Given the description of an element on the screen output the (x, y) to click on. 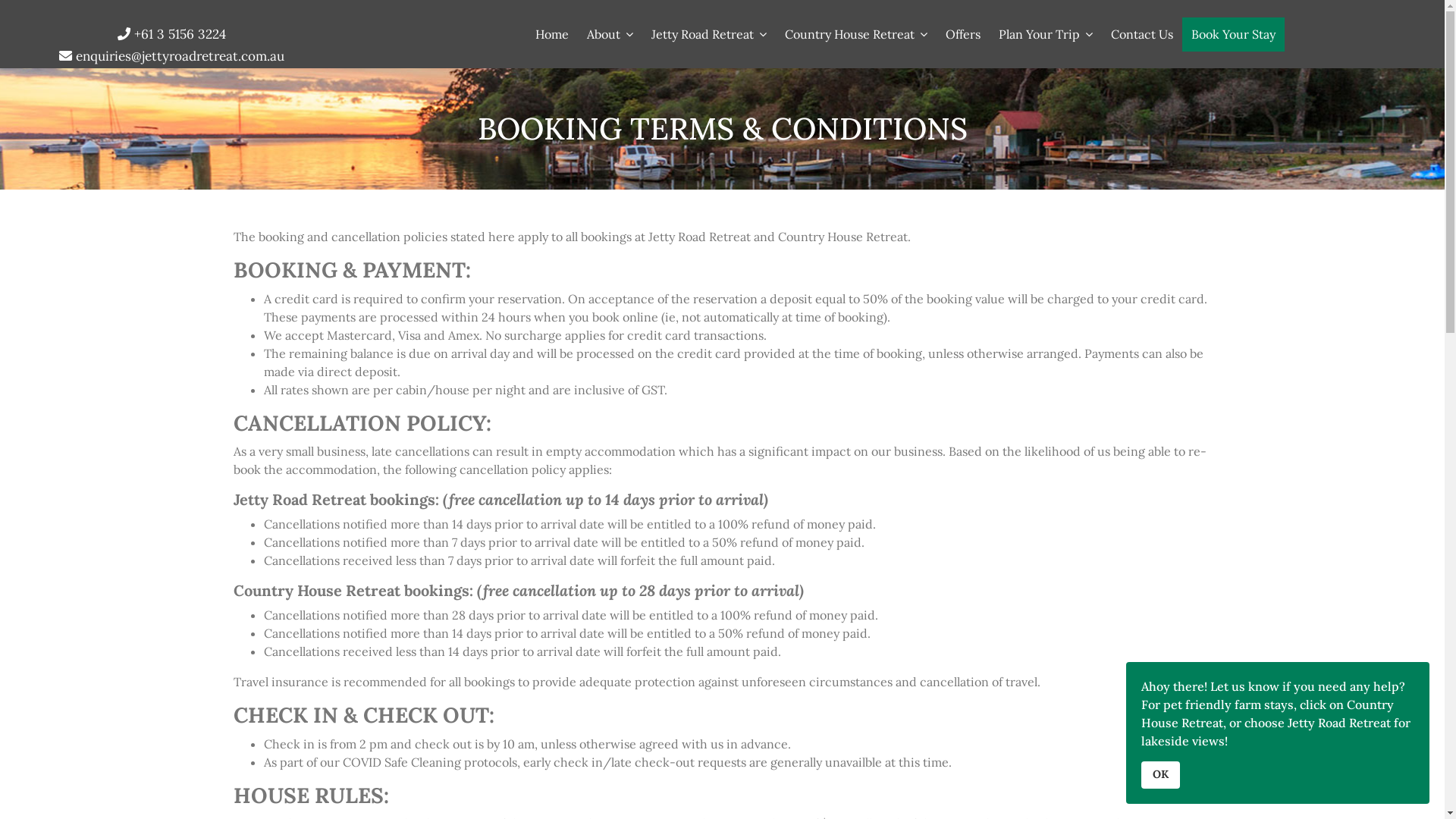
Contact Us Element type: text (1141, 34)
Home Element type: text (551, 34)
Plan Your Trip Element type: text (1045, 34)
Country House Retreat Element type: text (855, 34)
OK Element type: text (1160, 774)
enquiries@jettyroadretreat.com.au Element type: text (179, 55)
About Element type: text (609, 34)
Book Your Stay Element type: text (1233, 34)
+61 3 5156 3224 Element type: text (179, 33)
Offers Element type: text (962, 34)
Jetty Road Retreat Element type: text (708, 34)
